Given the description of an element on the screen output the (x, y) to click on. 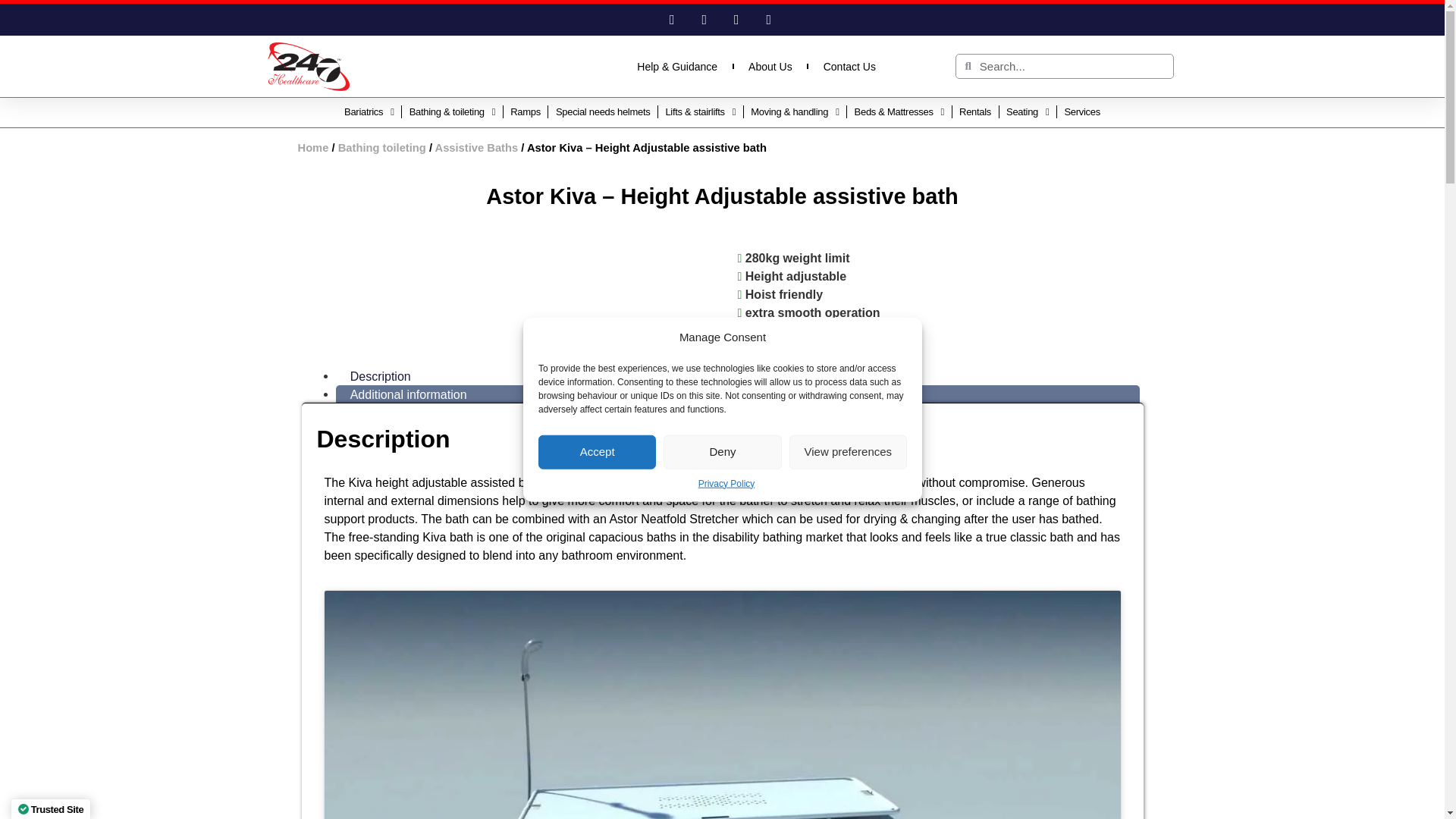
Privacy Policy (725, 482)
Deny (721, 451)
View preferences (847, 451)
Accept (597, 451)
About Us (770, 66)
Bariatrics (368, 111)
Contact Us (850, 66)
